Given the description of an element on the screen output the (x, y) to click on. 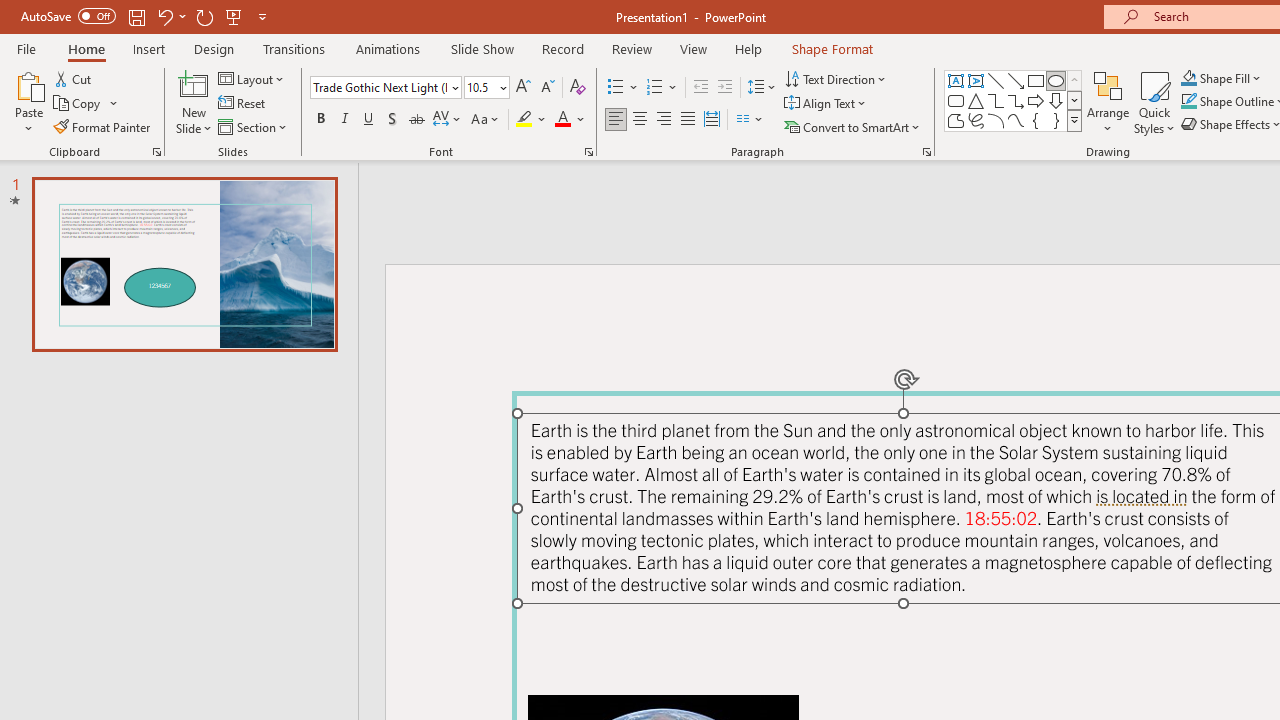
Shape Fill Aqua, Accent 2 (1188, 78)
